Given the description of an element on the screen output the (x, y) to click on. 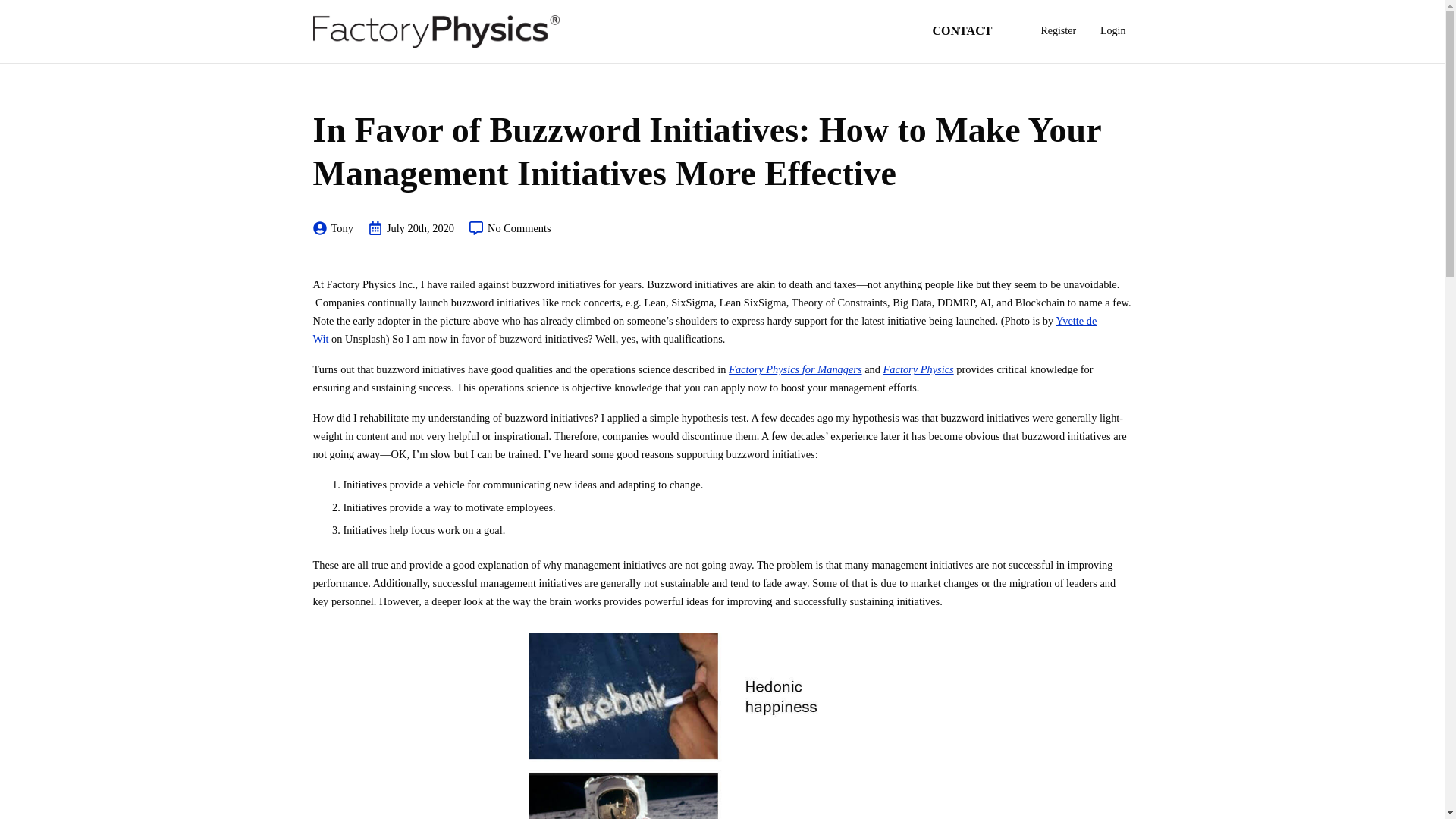
Register (1057, 30)
No Comments (509, 228)
Factory Physics (918, 369)
CONTACT (974, 30)
Factory Physics for Managers (795, 369)
Login (1112, 30)
Yvette de Wit (704, 329)
